Given the description of an element on the screen output the (x, y) to click on. 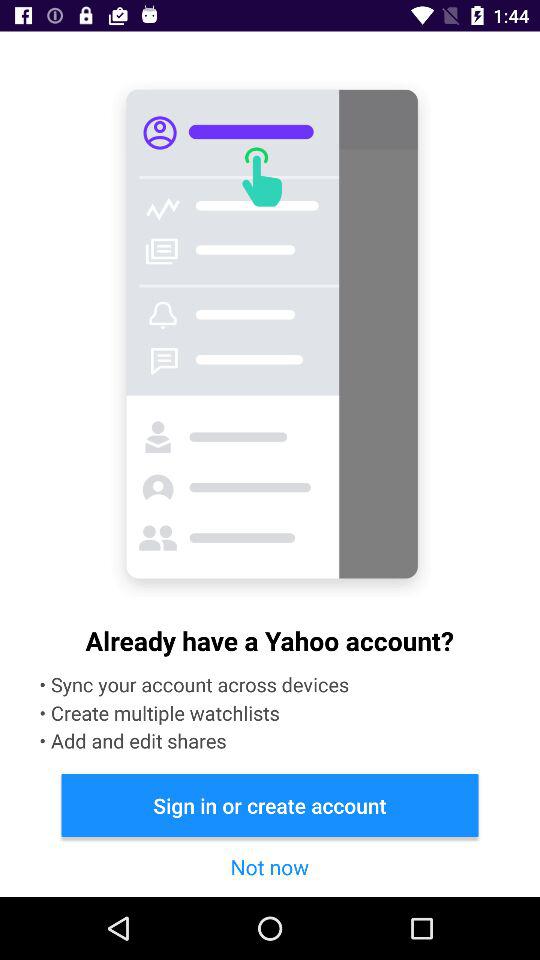
open item below the sign in or item (269, 866)
